Given the description of an element on the screen output the (x, y) to click on. 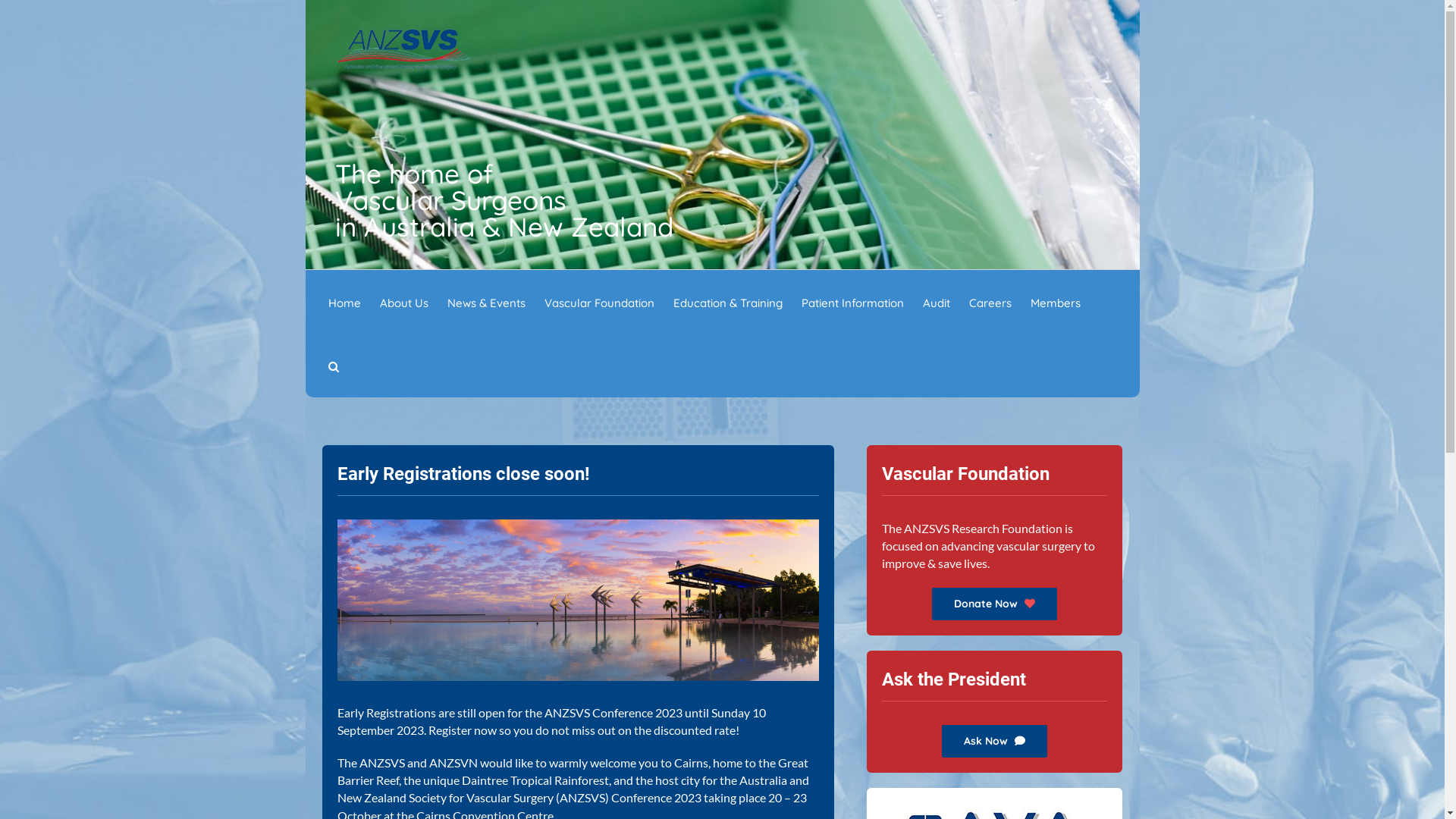
Search Element type: hover (332, 365)
About Us Element type: text (403, 301)
Home Element type: text (343, 301)
Vascular Foundation Element type: text (599, 301)
News & Events Element type: text (486, 301)
Careers Element type: text (990, 301)
Ask Now Element type: text (994, 740)
Members Element type: text (1054, 301)
Patient Information Element type: text (851, 301)
cover_Cairns Element type: hover (577, 599)
Education & Training Element type: text (727, 301)
Audit Element type: text (935, 301)
Donate Now Element type: text (994, 603)
